Given the description of an element on the screen output the (x, y) to click on. 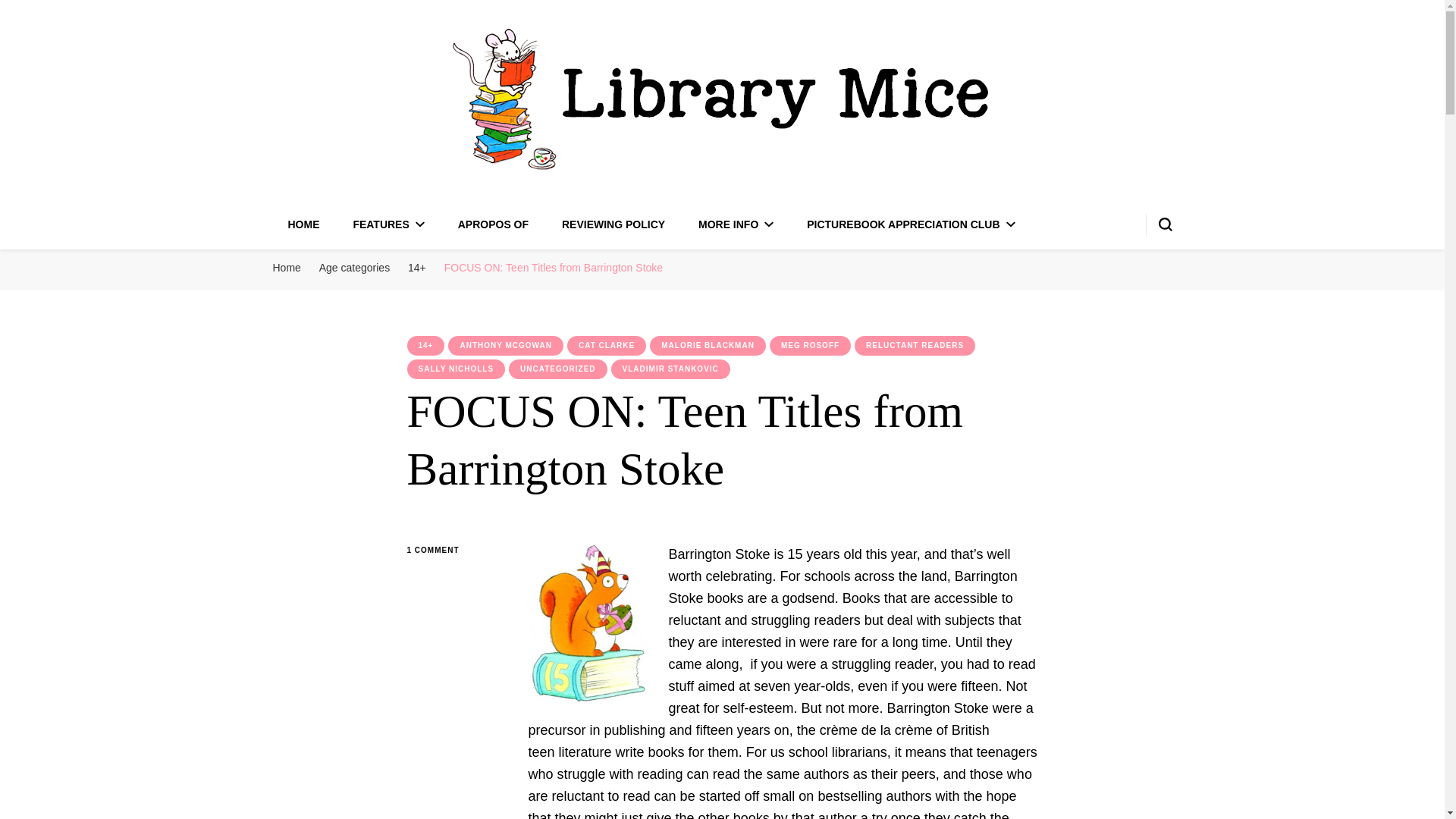
Library Mice (390, 205)
HOME (304, 224)
FEATURES (387, 224)
